Given the description of an element on the screen output the (x, y) to click on. 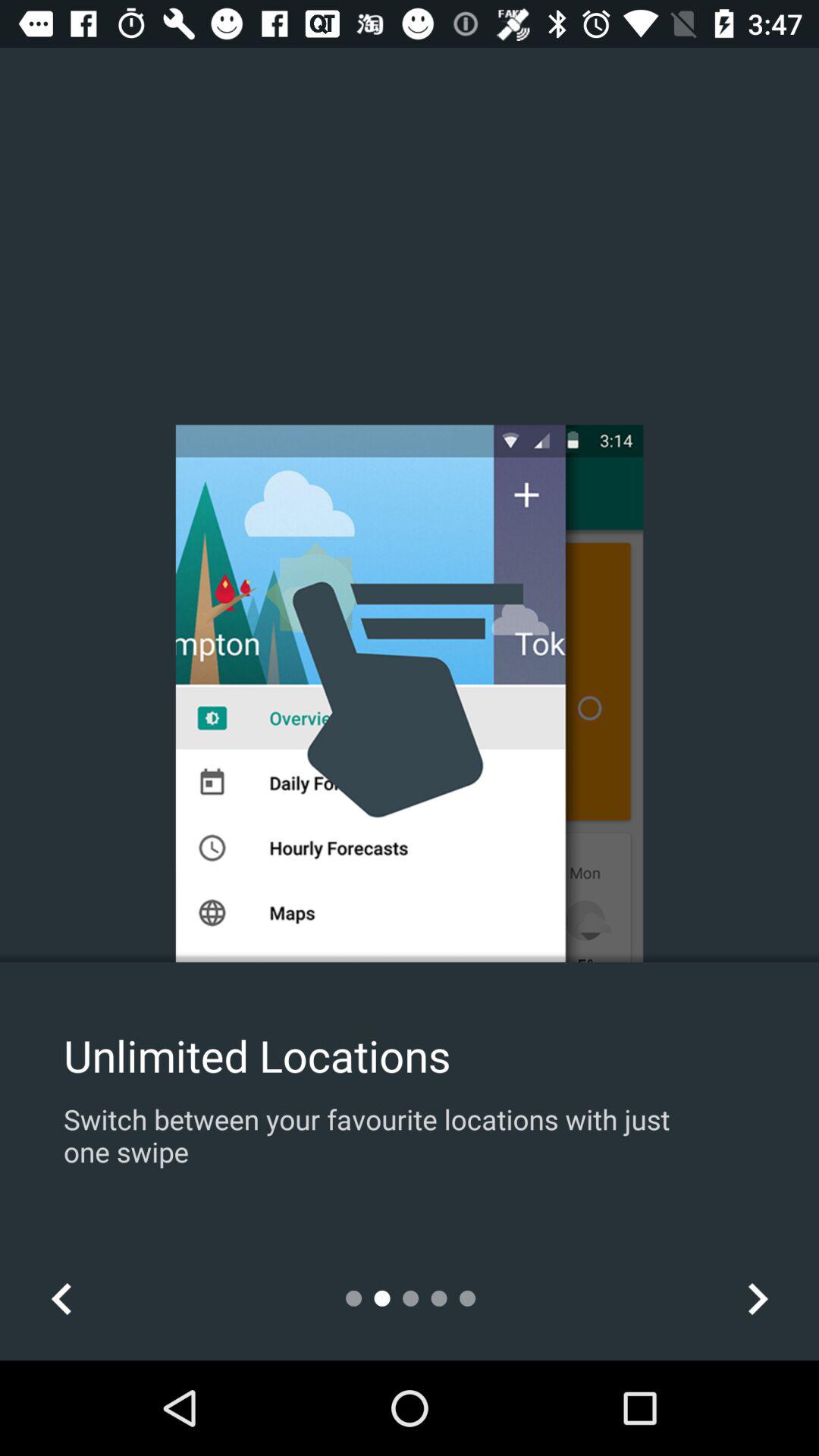
tap icon below switch between your icon (61, 1298)
